Given the description of an element on the screen output the (x, y) to click on. 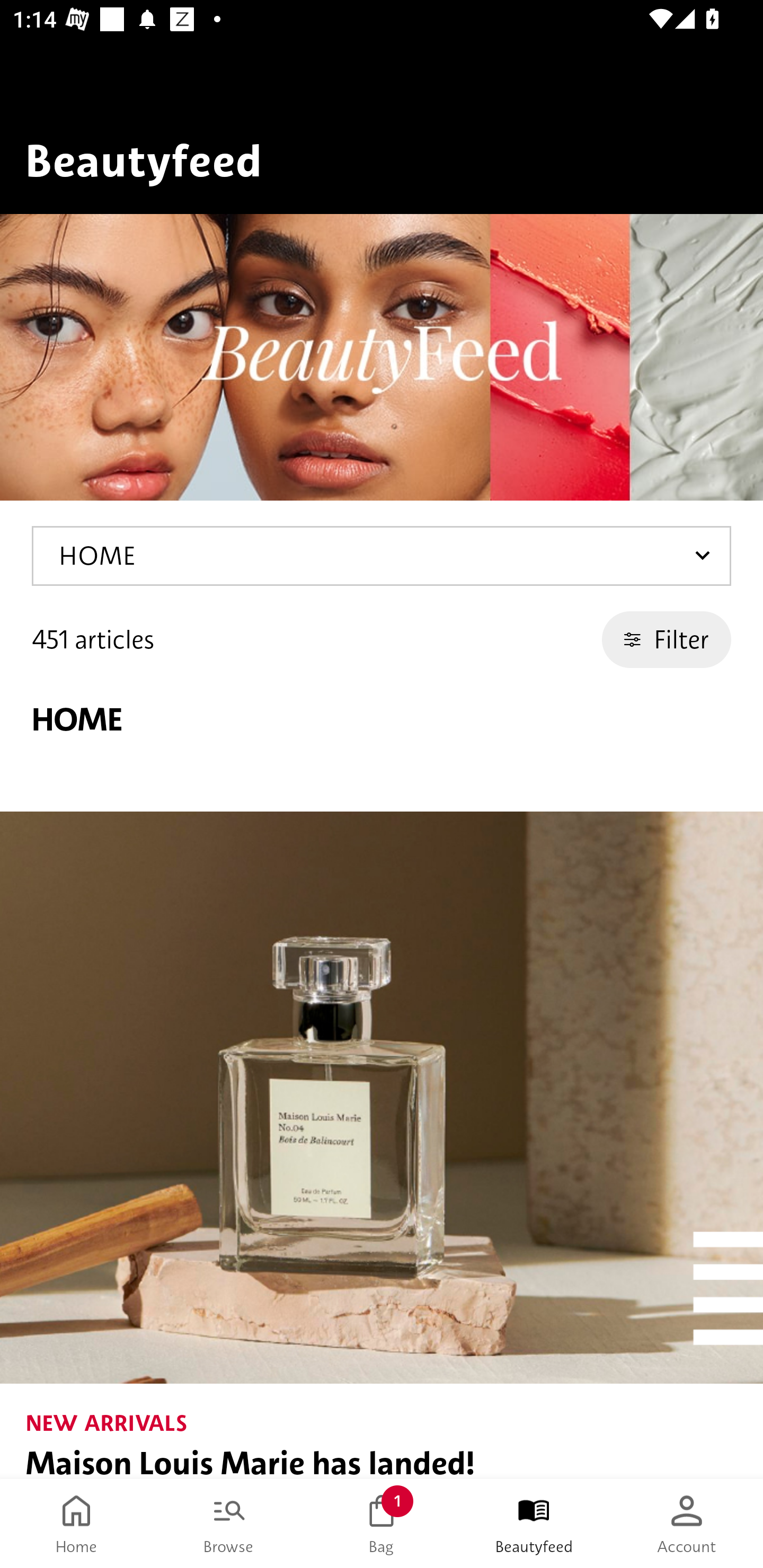
HOME (381, 555)
Filter (666, 639)
NEW ARRIVALS Maison Louis Marie has landed! (381, 1145)
Home (76, 1523)
Browse (228, 1523)
Bag 1 Bag (381, 1523)
Account (686, 1523)
